Given the description of an element on the screen output the (x, y) to click on. 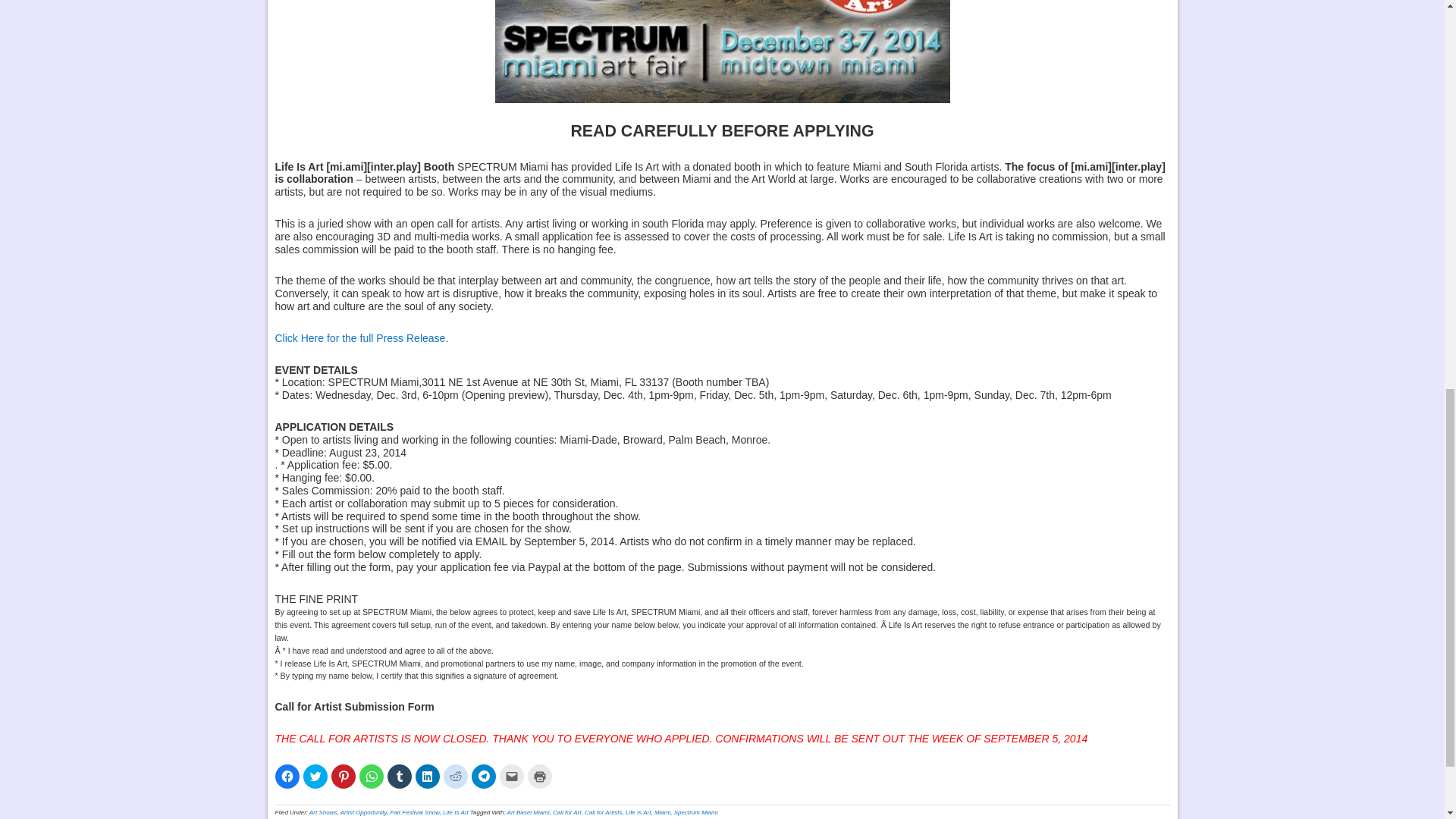
Click Here for the full Press Release (360, 337)
Click to share on LinkedIn (426, 776)
Click to share on Pinterest (342, 776)
Click to share on Twitter (314, 776)
Click to share on WhatsApp (371, 776)
Click to print (539, 776)
Click to share on Telegram (483, 776)
Click to share on Tumblr (398, 776)
Click to email a link to a friend (510, 776)
Click to share on Facebook (286, 776)
